Given the description of an element on the screen output the (x, y) to click on. 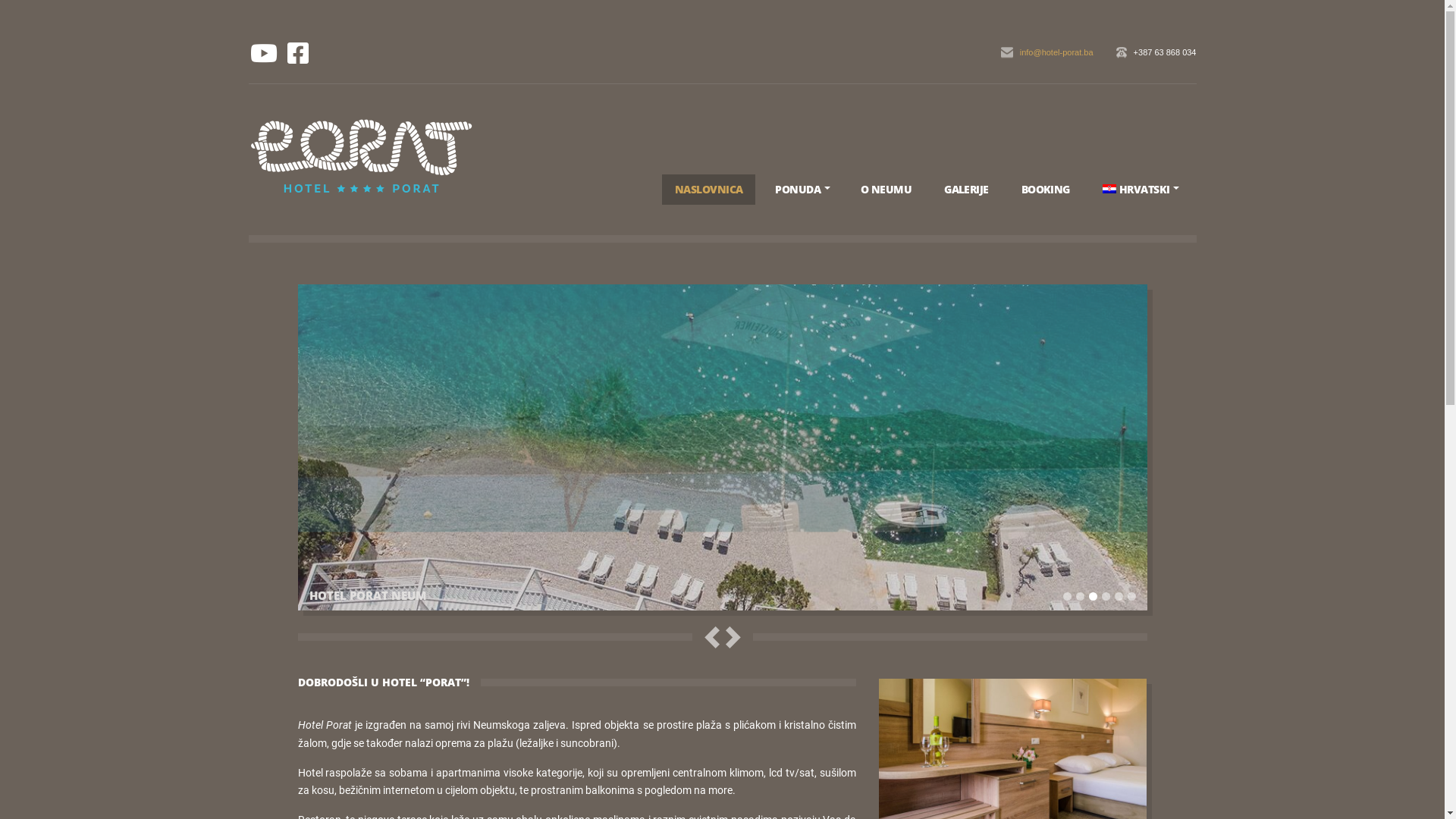
2 Element type: text (1079, 596)
HRVATSKI Element type: text (1139, 189)
O NEUMU Element type: text (885, 189)
6 Element type: text (1130, 596)
4 Element type: text (1105, 596)
NASLOVNICA Element type: text (708, 189)
PONUDA Element type: text (801, 189)
3 Element type: text (1092, 596)
info@hotel-porat.ba Element type: text (1047, 52)
GALERIJE Element type: text (966, 189)
BOOKING Element type: text (1045, 189)
HOTEL PORAT NEUM Element type: text (721, 447)
1 Element type: text (1067, 596)
+387 63 868 034 Element type: text (1155, 52)
5 Element type: text (1118, 596)
